Given the description of an element on the screen output the (x, y) to click on. 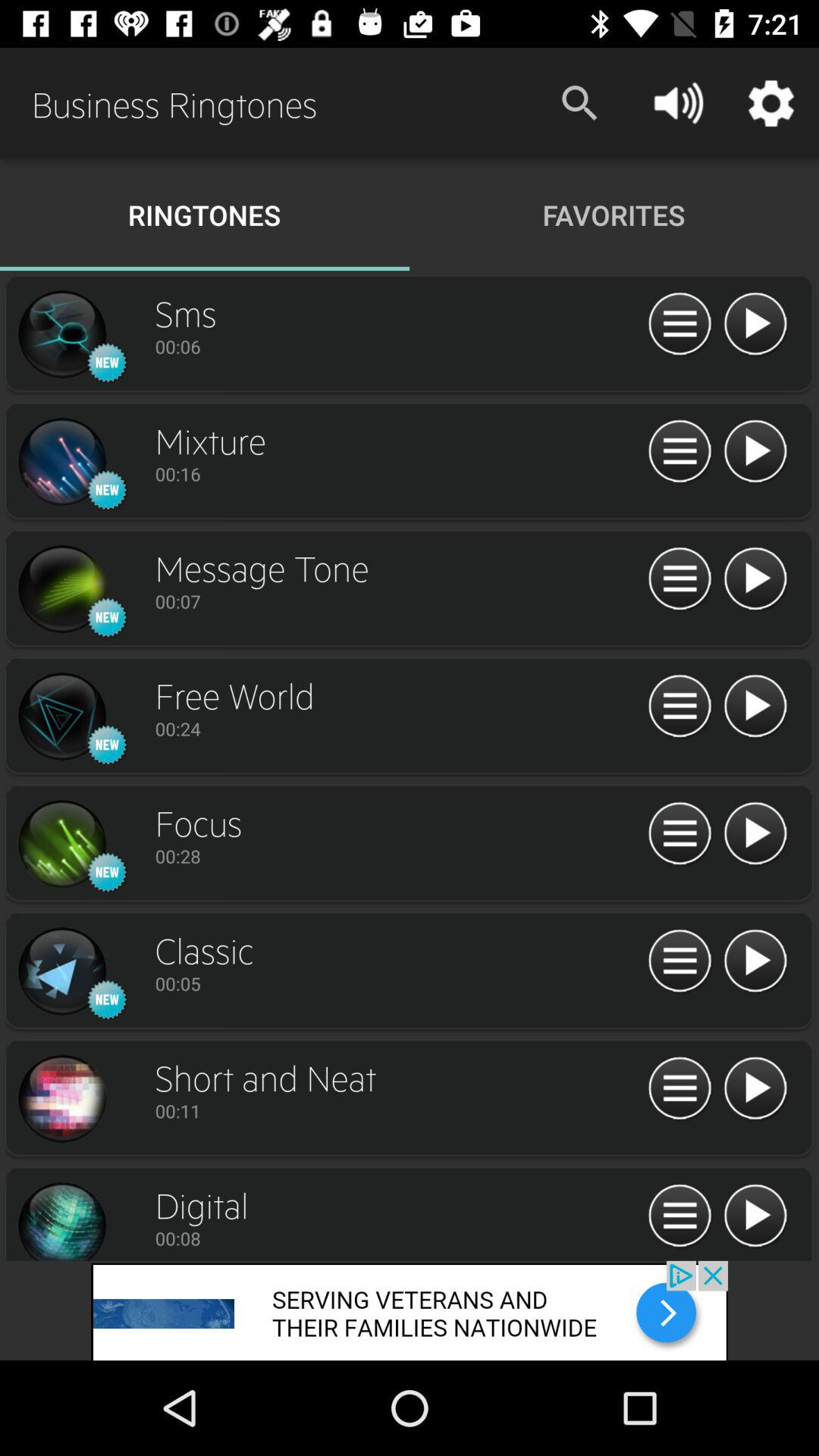
new icon next to mixture (61, 462)
